Given the description of an element on the screen output the (x, y) to click on. 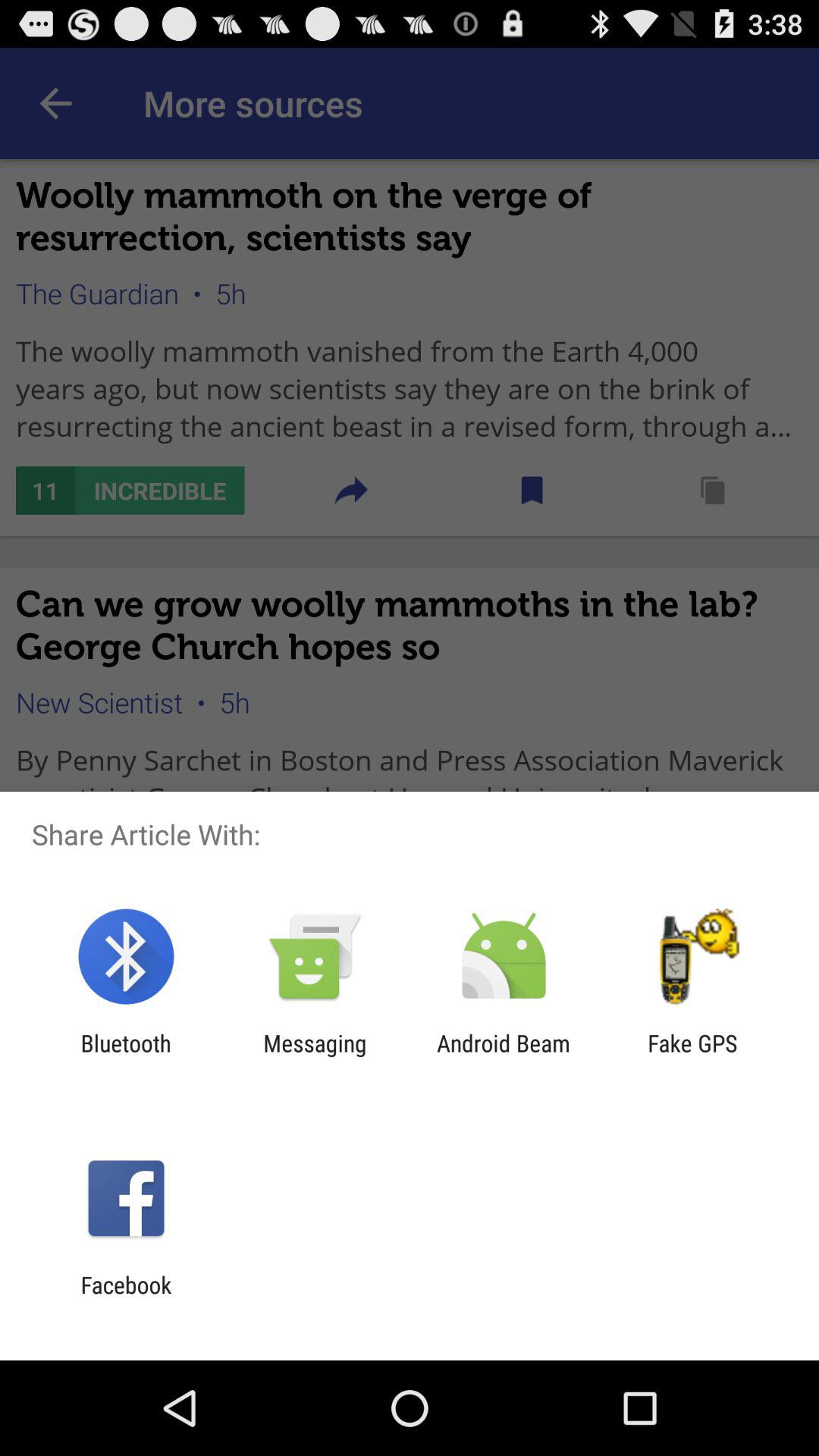
choose facebook icon (125, 1298)
